Given the description of an element on the screen output the (x, y) to click on. 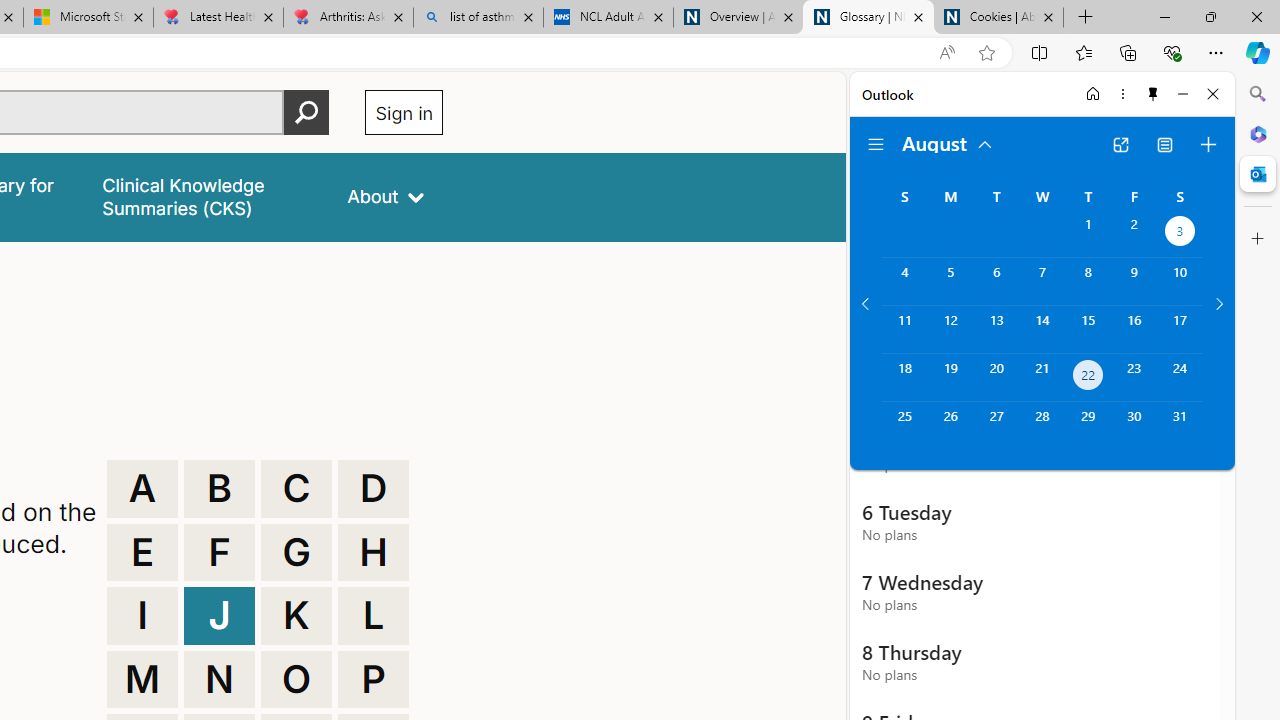
Saturday, August 3, 2024. Date selected.  (1180, 233)
Thursday, August 29, 2024.  (1088, 425)
NCL Adult Asthma Inhaler Choice Guideline (608, 17)
Tuesday, August 13, 2024.  (996, 329)
L (373, 615)
Wednesday, August 14, 2024.  (1042, 329)
Cookies | About | NICE (998, 17)
Saturday, August 17, 2024.  (1180, 329)
Saturday, August 10, 2024.  (1180, 281)
Monday, August 12, 2024.  (950, 329)
K (296, 615)
